Given the description of an element on the screen output the (x, y) to click on. 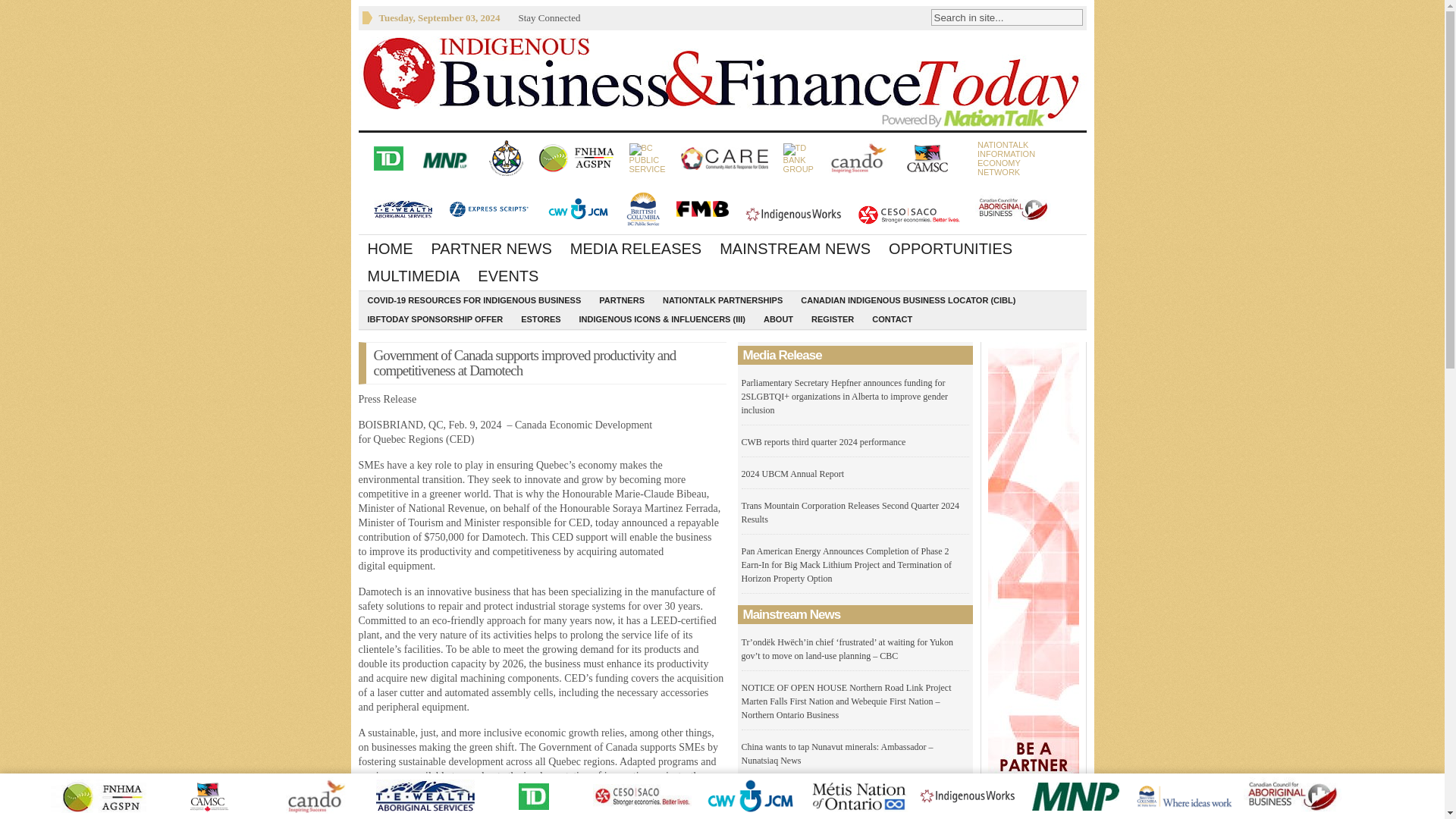
HOME (1006, 158)
Today's Top Aboriginal Business News (390, 248)
Stay Connected (722, 80)
MEDIA RELEASES (549, 18)
PARTNER NEWS (635, 248)
Search in site... (491, 248)
